Given the description of an element on the screen output the (x, y) to click on. 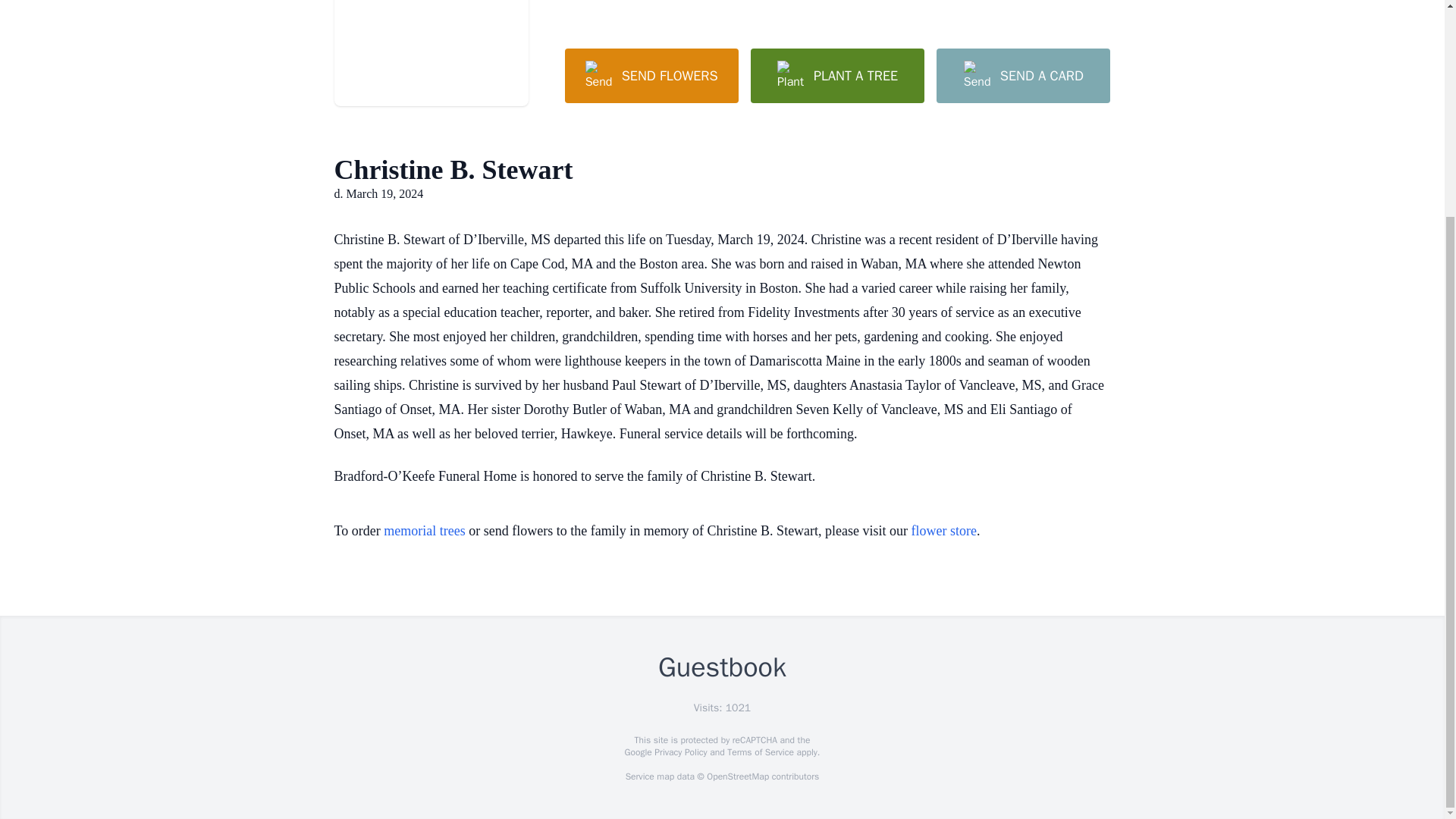
SEND FLOWERS (651, 75)
OpenStreetMap (737, 776)
Privacy Policy (679, 752)
PLANT A TREE (837, 75)
Terms of Service (759, 752)
SEND A CARD (1022, 75)
flower store (943, 530)
memorial trees (424, 530)
